Given the description of an element on the screen output the (x, y) to click on. 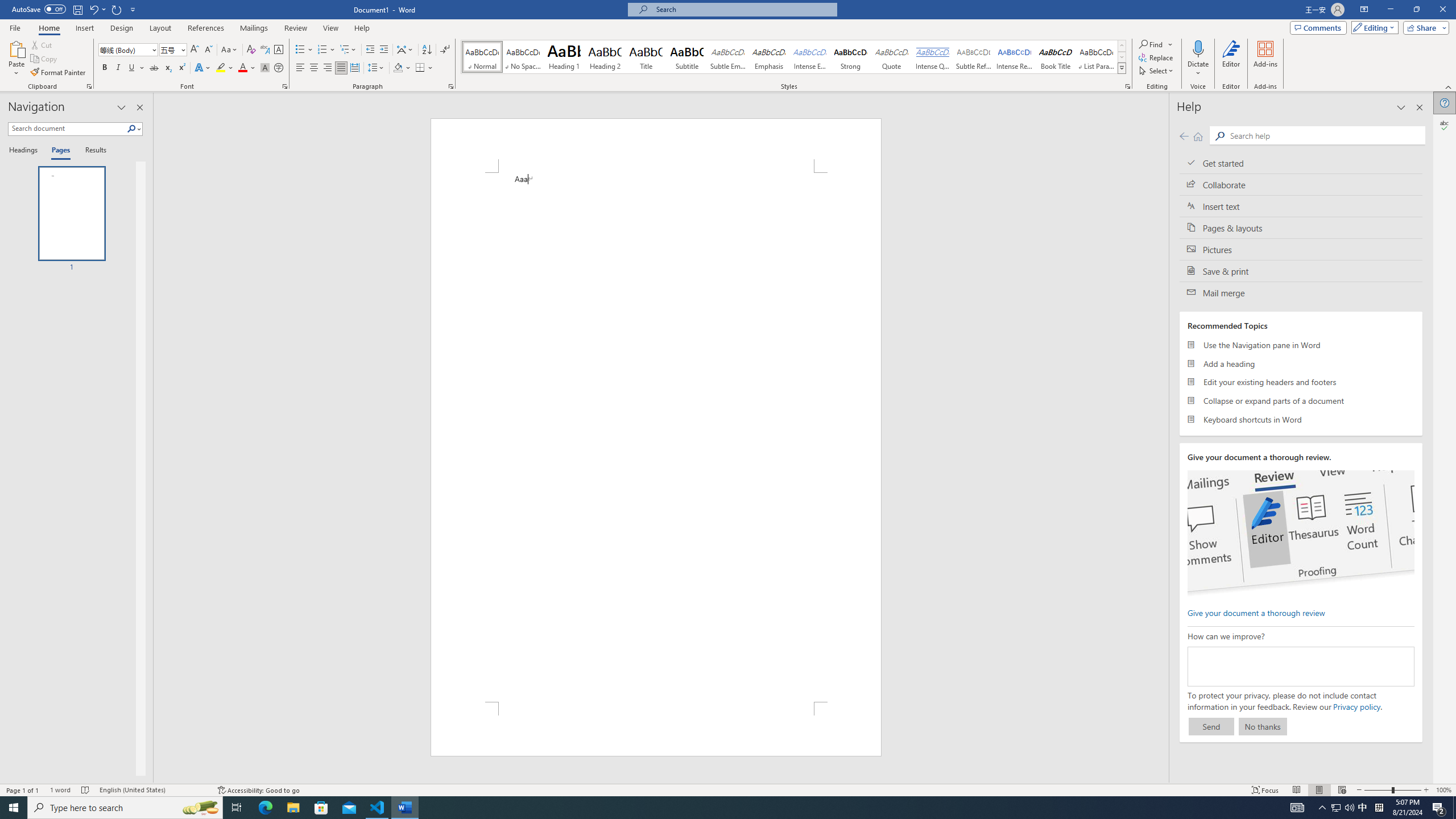
Review (295, 28)
Character Shading (264, 67)
editor ui screenshot (1300, 533)
Title (646, 56)
Shrink Font (208, 49)
Pages & layouts (1300, 228)
Pictures (1300, 249)
Distributed (354, 67)
Zoom Out (1377, 790)
Align Right (327, 67)
Decrease Indent (370, 49)
Language English (United States) (152, 790)
Justify (340, 67)
Phonetic Guide... (264, 49)
Editor (1231, 58)
